Given the description of an element on the screen output the (x, y) to click on. 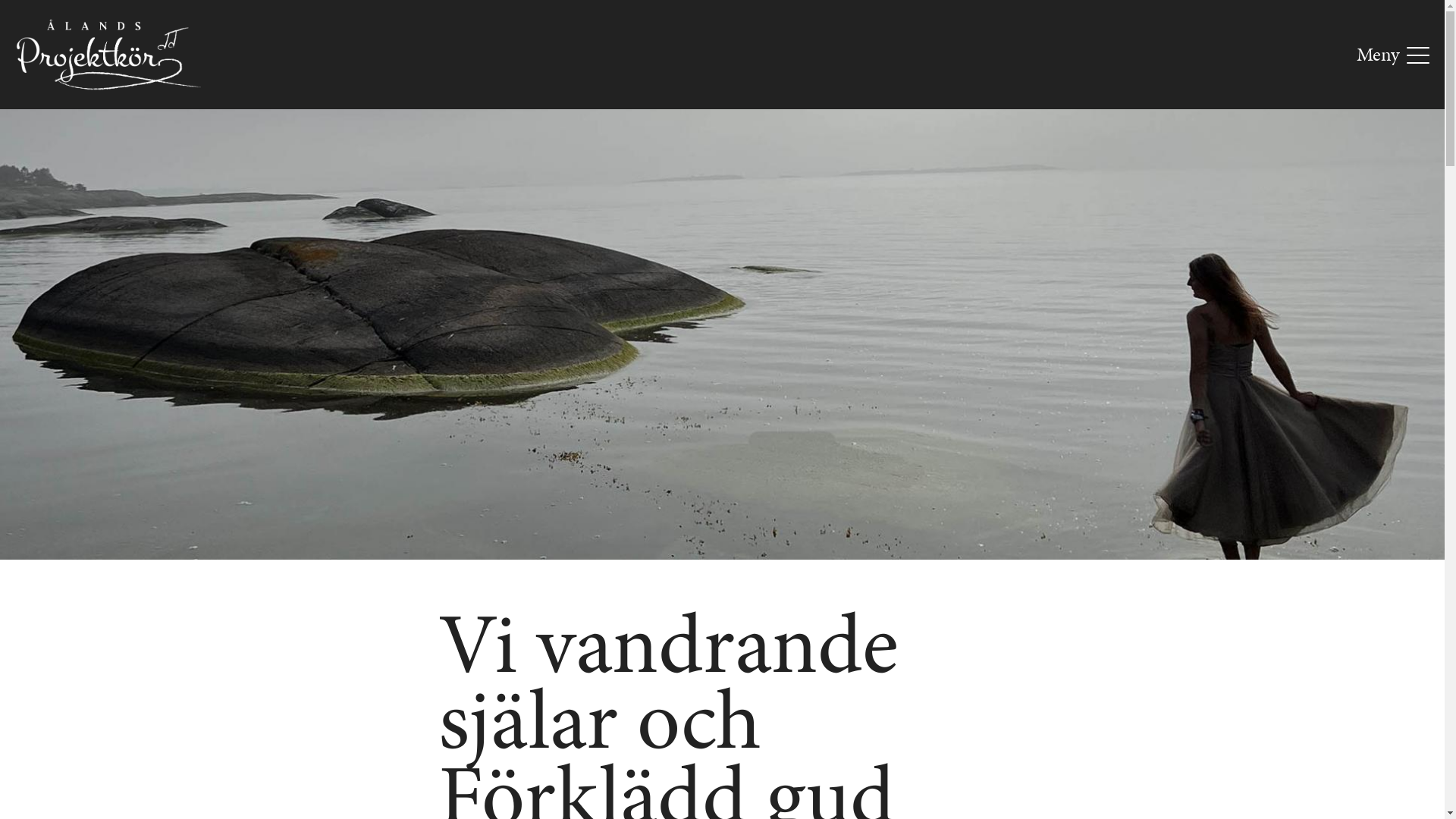
Meny Element type: text (1392, 54)
